Given the description of an element on the screen output the (x, y) to click on. 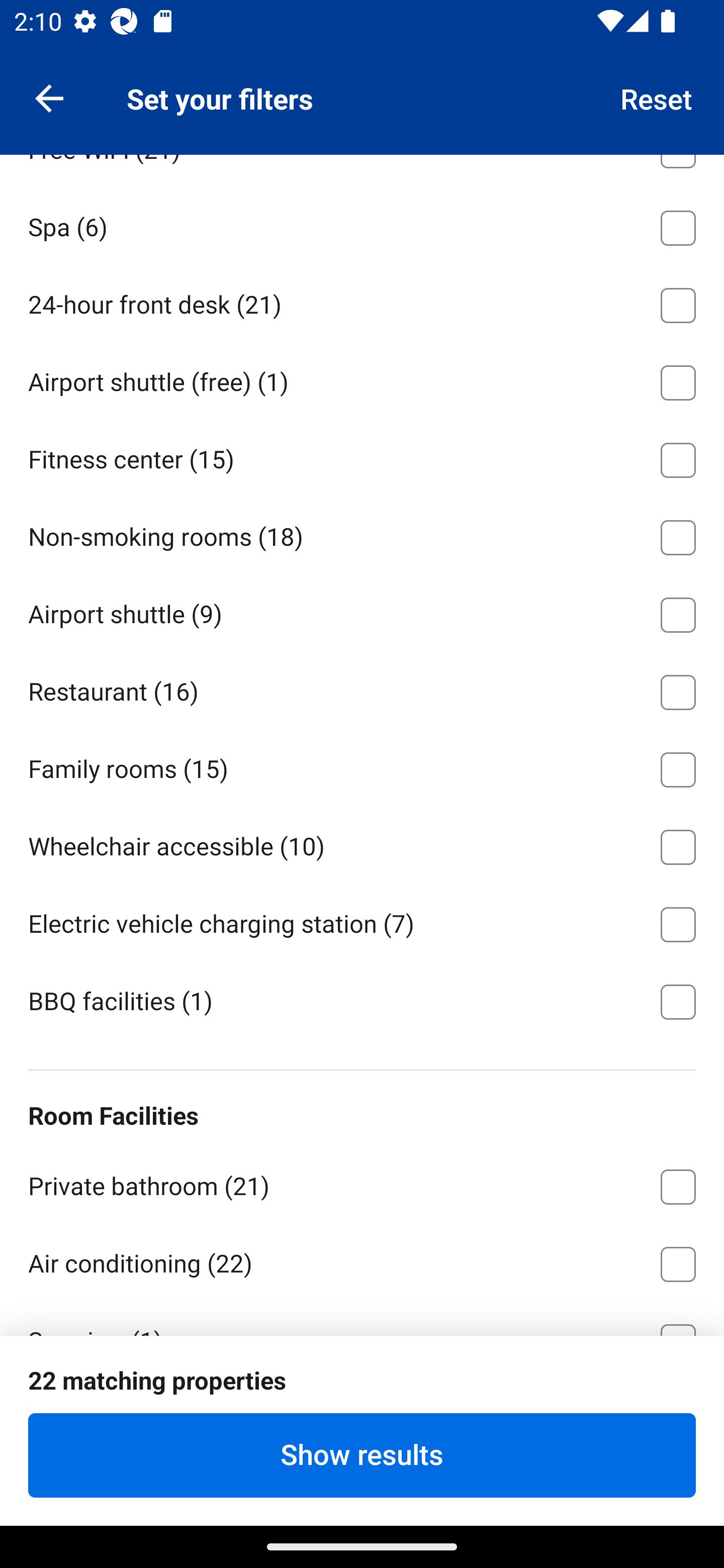
Navigate up (49, 97)
Reset (656, 97)
Spa ⁦(6) (361, 224)
24-hour front desk ⁦(21) (361, 301)
Airport shuttle (free) ⁦(1) (361, 379)
Fitness center ⁦(15) (361, 456)
Non-smoking rooms ⁦(18) (361, 533)
Airport shuttle ⁦(9) (361, 611)
Restaurant ⁦(16) (361, 688)
Family rooms ⁦(15) (361, 765)
Wheelchair accessible ⁦(10) (361, 843)
Electric vehicle charging station ⁦(7) (361, 920)
BBQ facilities ⁦(1) (361, 1000)
Private bathroom ⁦(21) (361, 1182)
Air conditioning ⁦(22) (361, 1260)
Show results (361, 1454)
